Given the description of an element on the screen output the (x, y) to click on. 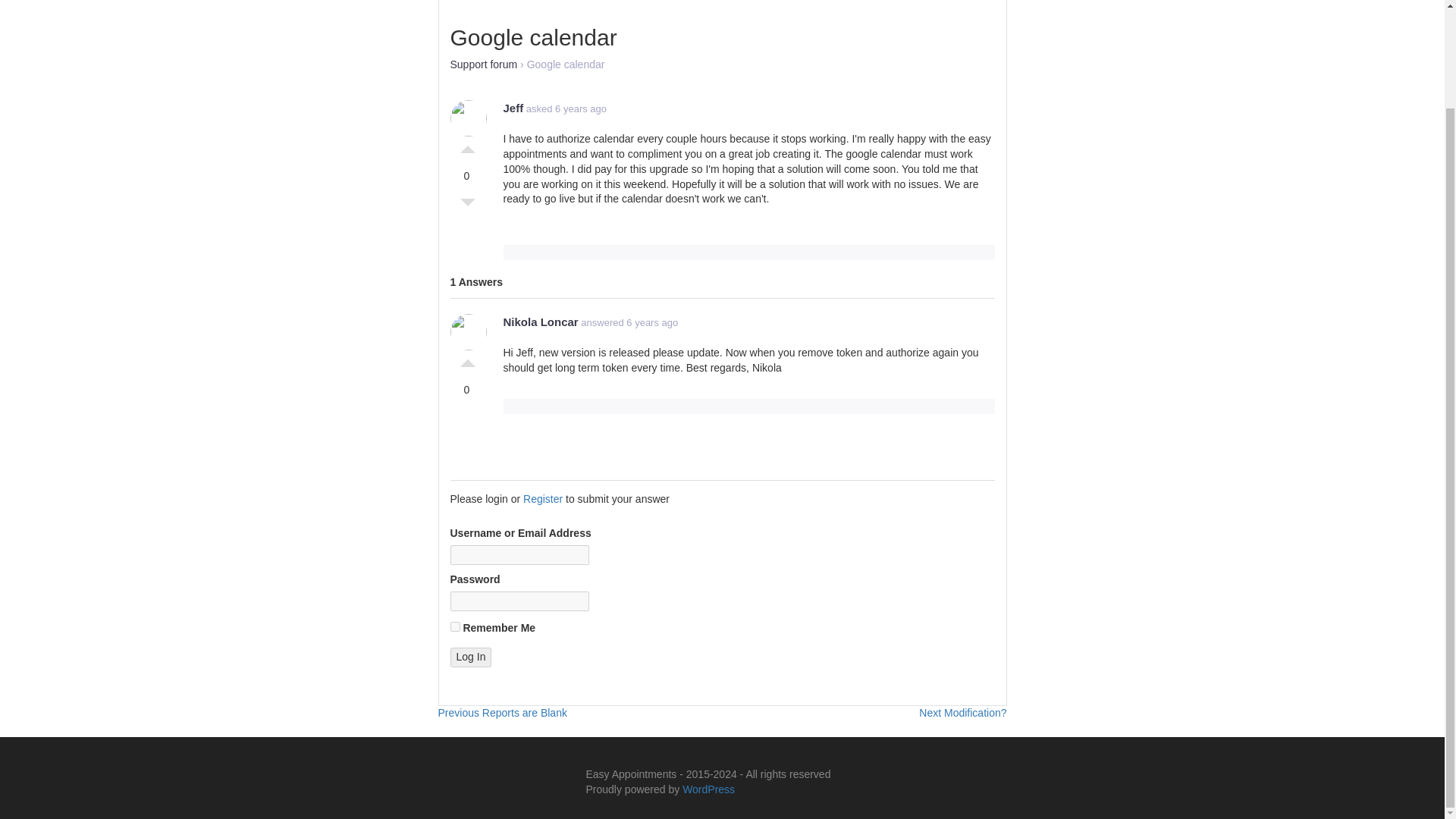
Log In (470, 657)
Support forum (483, 64)
Vote Down (467, 206)
Jeff (513, 107)
WordPress (708, 788)
Vote Up (502, 712)
Log In (467, 359)
Vote Up (470, 657)
forever (467, 145)
Nikola Loncar (454, 626)
Register (540, 321)
